Given the description of an element on the screen output the (x, y) to click on. 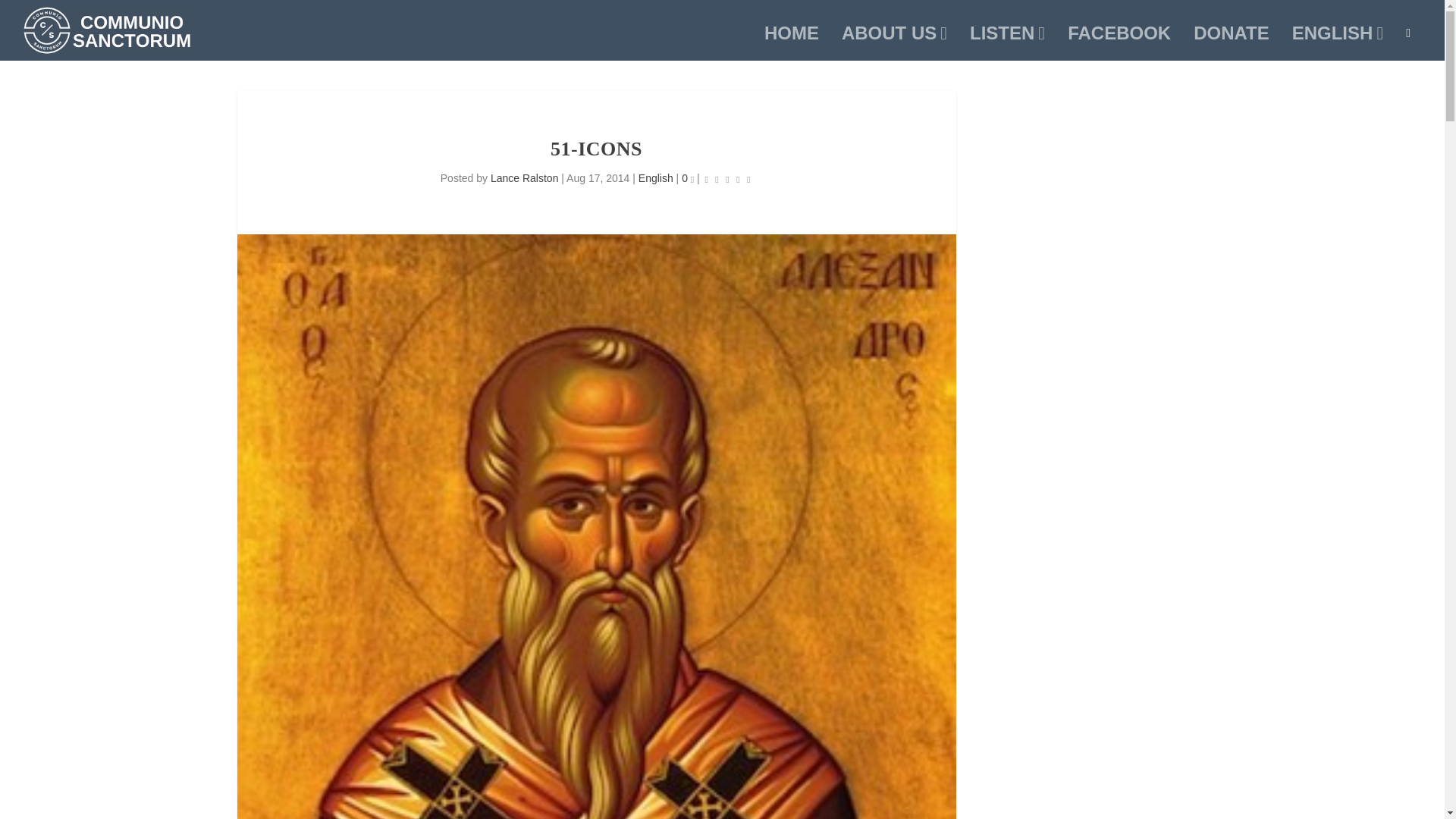
ENGLISH (1337, 43)
Posts by Lance Ralston (524, 177)
0 (687, 177)
English (655, 177)
FACEBOOK (1118, 43)
DONATE (1231, 43)
HOME (791, 43)
Lance Ralston (524, 177)
ABOUT US (894, 43)
LISTEN (1007, 43)
